Given the description of an element on the screen output the (x, y) to click on. 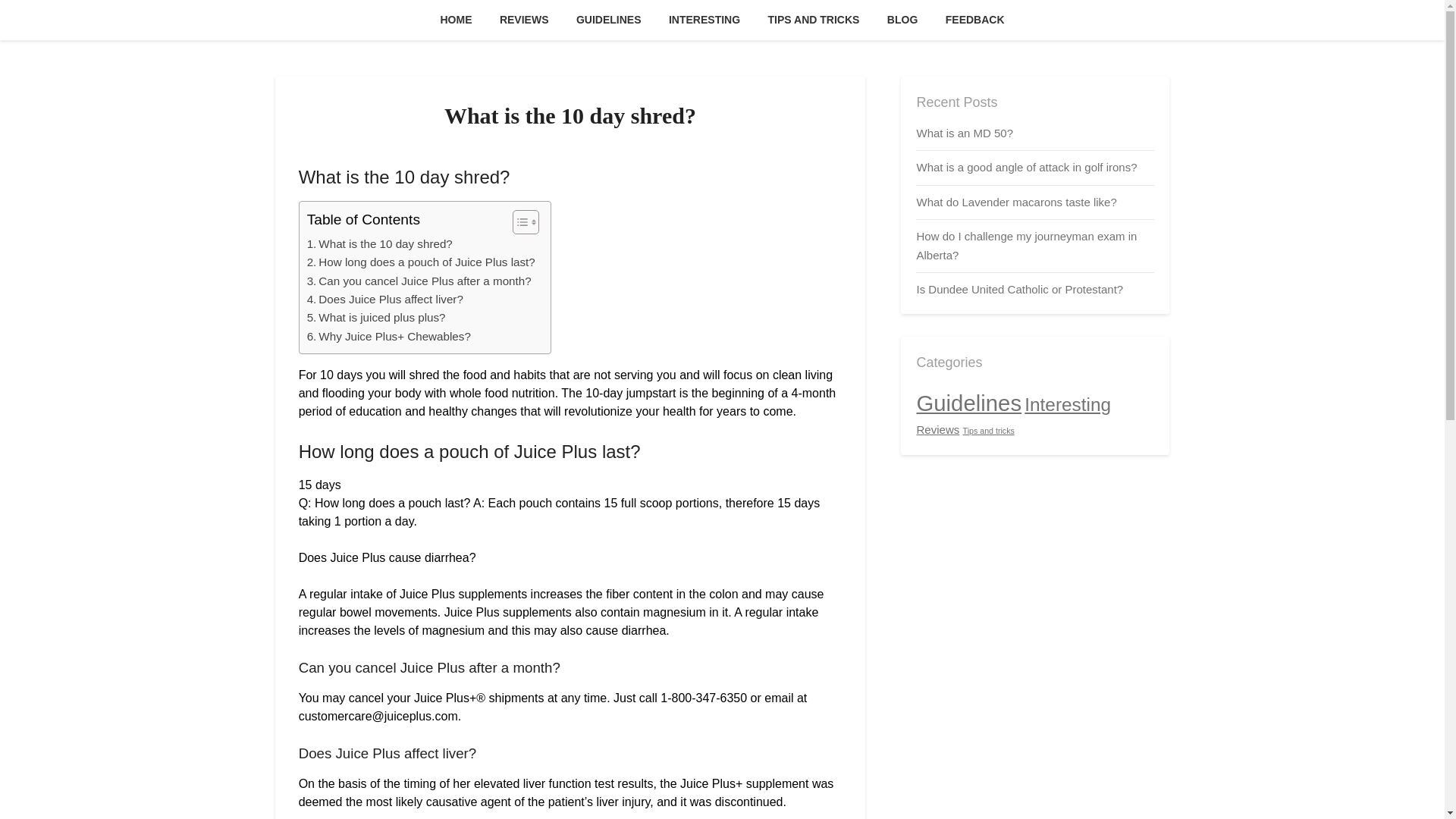
Guidelines (968, 401)
FEEDBACK (974, 20)
What is a good angle of attack in golf irons? (1026, 166)
How long does a pouch of Juice Plus last? (421, 262)
What is the 10 day shred? (379, 244)
HOME (455, 20)
TIPS AND TRICKS (813, 20)
INTERESTING (704, 20)
What is juiced plus plus? (376, 317)
How long does a pouch of Juice Plus last? (421, 262)
Can you cancel Juice Plus after a month? (419, 280)
What is the 10 day shred? (379, 244)
Interesting (1067, 403)
Does Juice Plus affect liver? (385, 299)
Tips and tricks (988, 429)
